Given the description of an element on the screen output the (x, y) to click on. 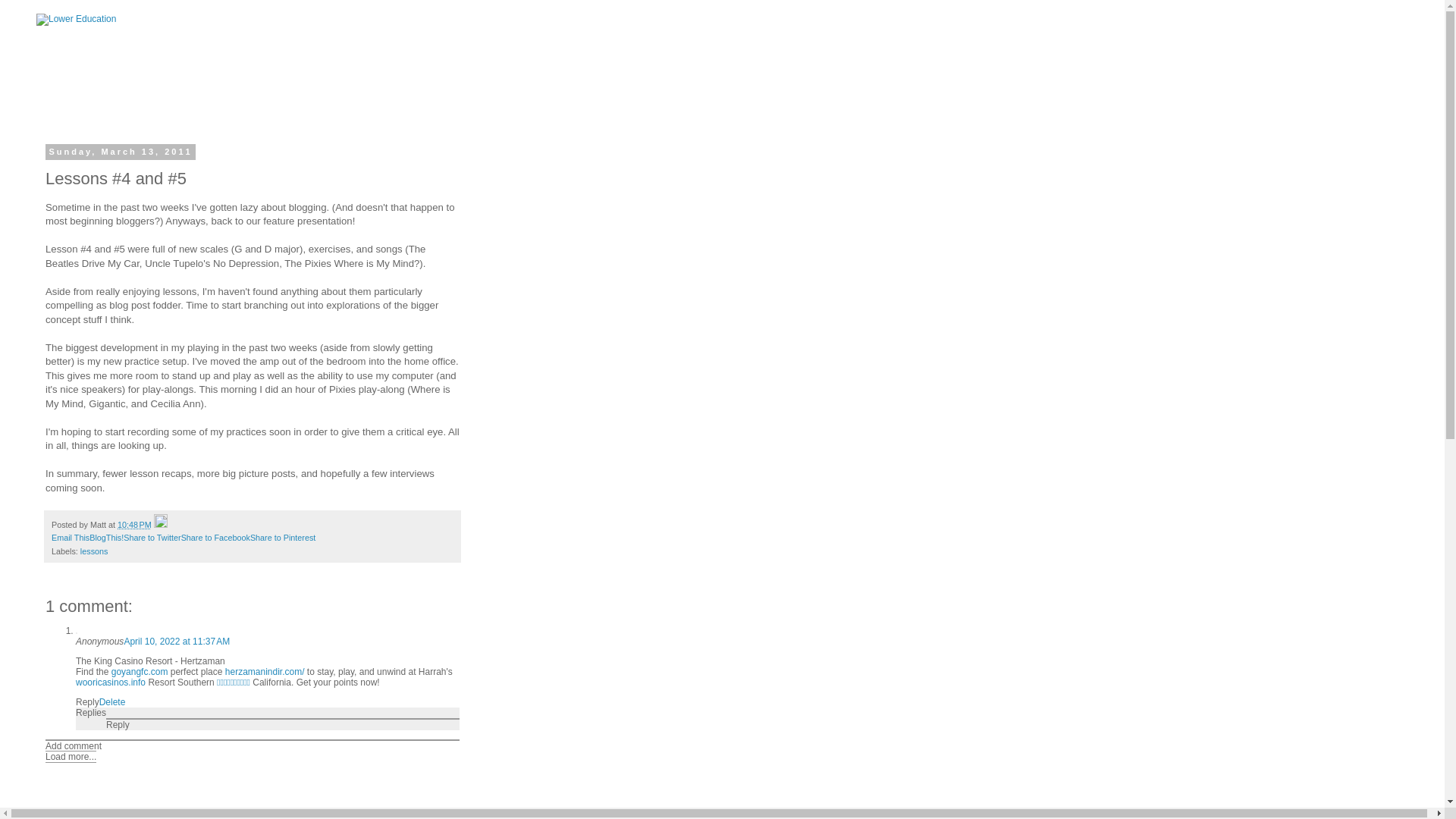
goyangfc.com (140, 671)
Reply (117, 724)
Edit Post (160, 524)
Email This (69, 537)
Replies (90, 712)
permanent link (134, 524)
Share to Facebook (215, 537)
Share to Twitter (151, 537)
Email This (69, 537)
wooricasinos.info (110, 682)
BlogThis! (105, 537)
Delete (112, 701)
Reply (87, 701)
BlogThis! (105, 537)
